Given the description of an element on the screen output the (x, y) to click on. 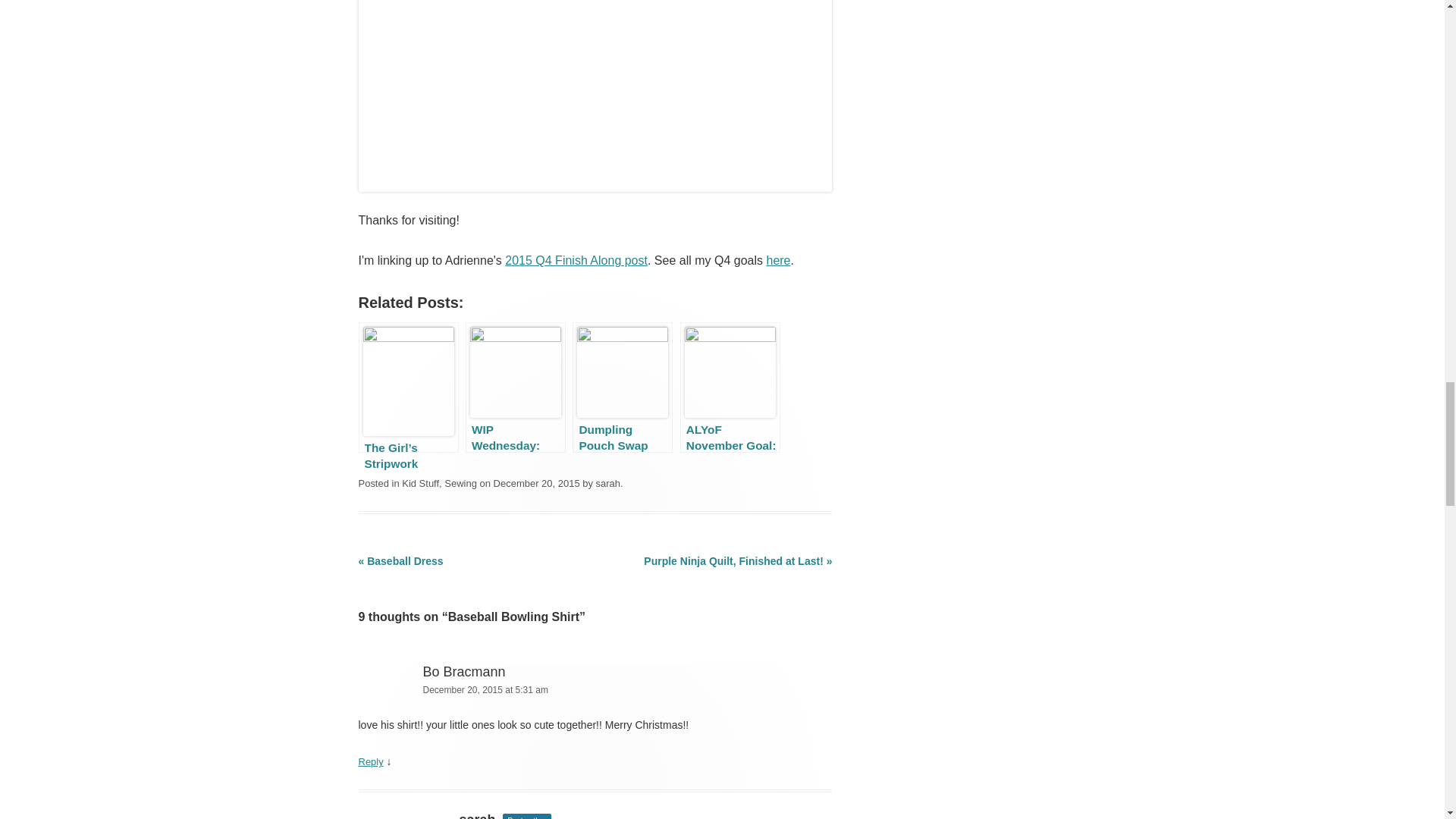
December 20, 2015 at 5:31 am (594, 690)
here (777, 259)
2015 Q4 Finish Along post (576, 259)
Kid Stuff (420, 482)
December 20, 2015 (536, 482)
Sewing (460, 482)
3:00 am (536, 482)
sarah (607, 482)
Reply (370, 761)
View all posts by sarah (607, 482)
